Given the description of an element on the screen output the (x, y) to click on. 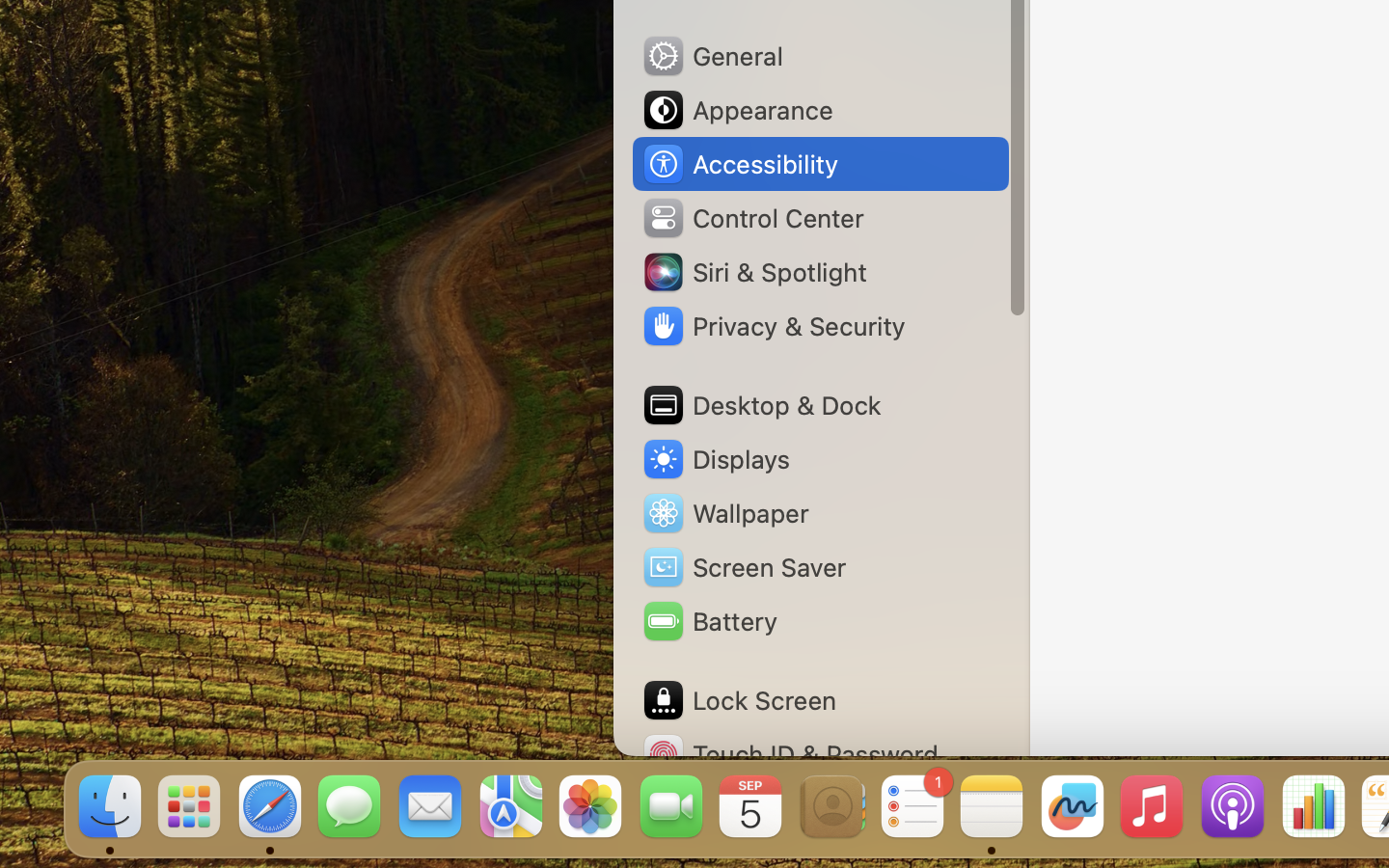
Desktop & Dock Element type: AXStaticText (760, 404)
Lock Screen Element type: AXStaticText (738, 700)
Touch ID & Password Element type: AXStaticText (789, 754)
Appearance Element type: AXStaticText (736, 109)
Privacy & Security Element type: AXStaticText (772, 325)
